Given the description of an element on the screen output the (x, y) to click on. 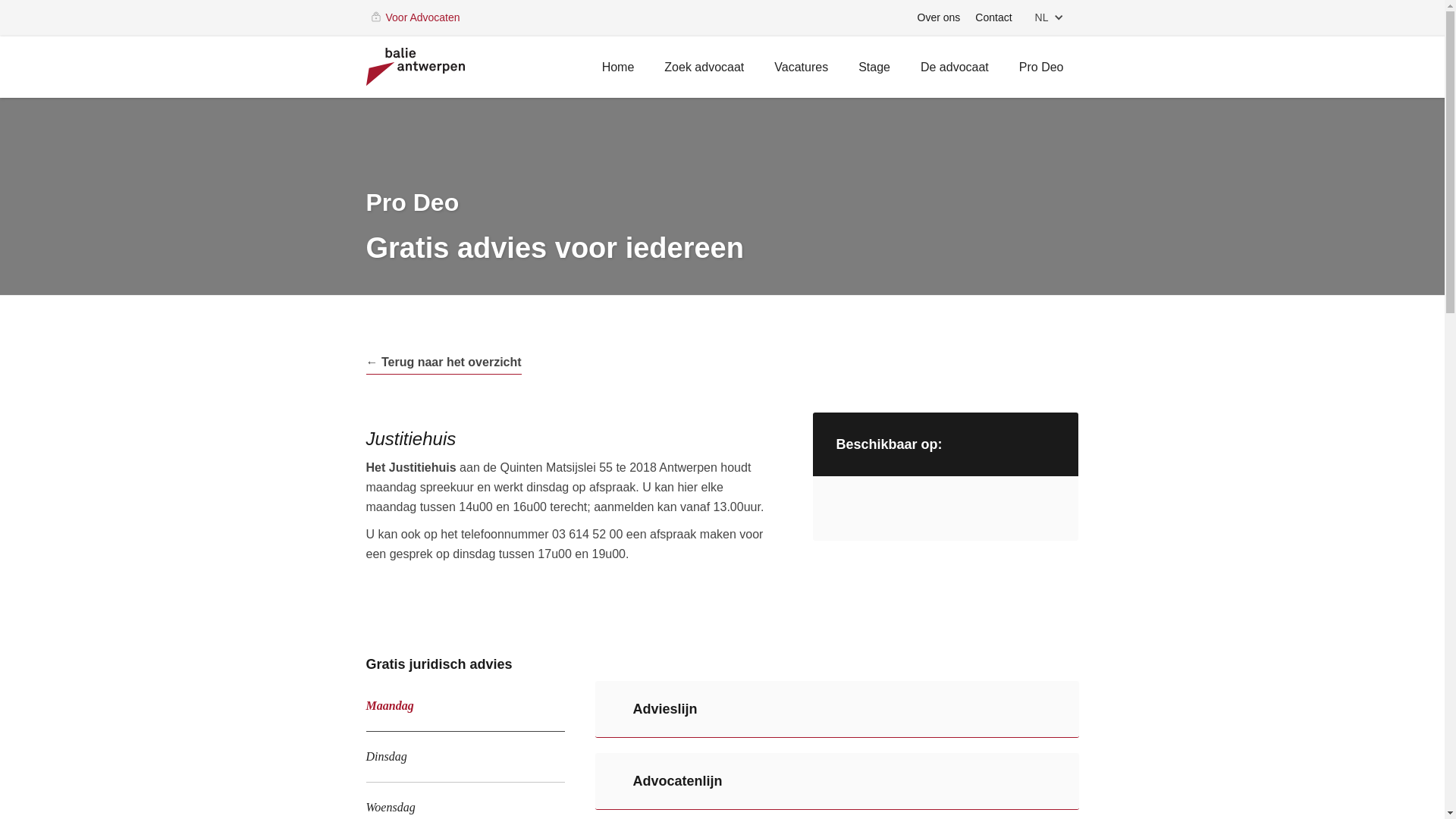
Dinsdag Element type: text (464, 756)
Home Element type: text (618, 69)
Advocatenlijn Element type: text (836, 781)
Zoek advocaat Element type: text (703, 69)
Voor Advocaten Element type: text (422, 17)
Over ons Element type: text (938, 17)
Advieslijn Element type: text (836, 708)
Pro Deo Element type: text (1041, 69)
De advocaat Element type: text (954, 69)
Stage Element type: text (874, 69)
Vacatures Element type: text (801, 69)
Contact Element type: text (993, 17)
Maandag Element type: text (464, 705)
